Given the description of an element on the screen output the (x, y) to click on. 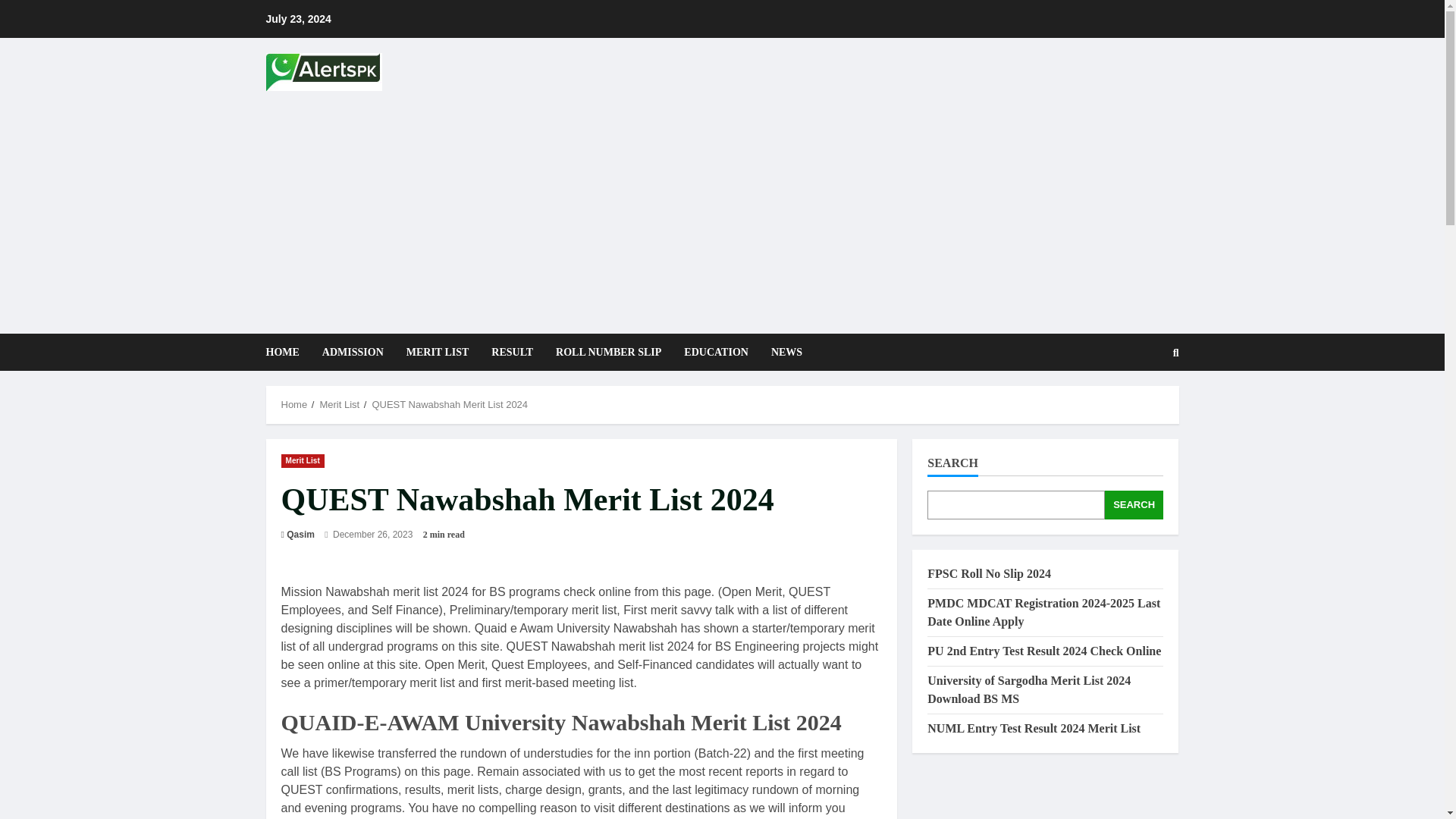
Merit List (338, 404)
Merit List (302, 459)
SEARCH (1134, 504)
Qasim (300, 534)
HOME (287, 352)
NUML Entry Test Result 2024 Merit List (1033, 727)
PU 2nd Entry Test Result 2024 Check Online (1043, 650)
MERIT LIST (437, 352)
University of Sargodha Merit List 2024 Download BS MS (1029, 689)
PMDC MDCAT Registration 2024-2025 Last Date Online Apply (1043, 612)
RESULT (512, 352)
QUEST Nawabshah Merit List 2024 (449, 404)
NEWS (781, 352)
FPSC Roll No Slip 2024 (989, 573)
